Given the description of an element on the screen output the (x, y) to click on. 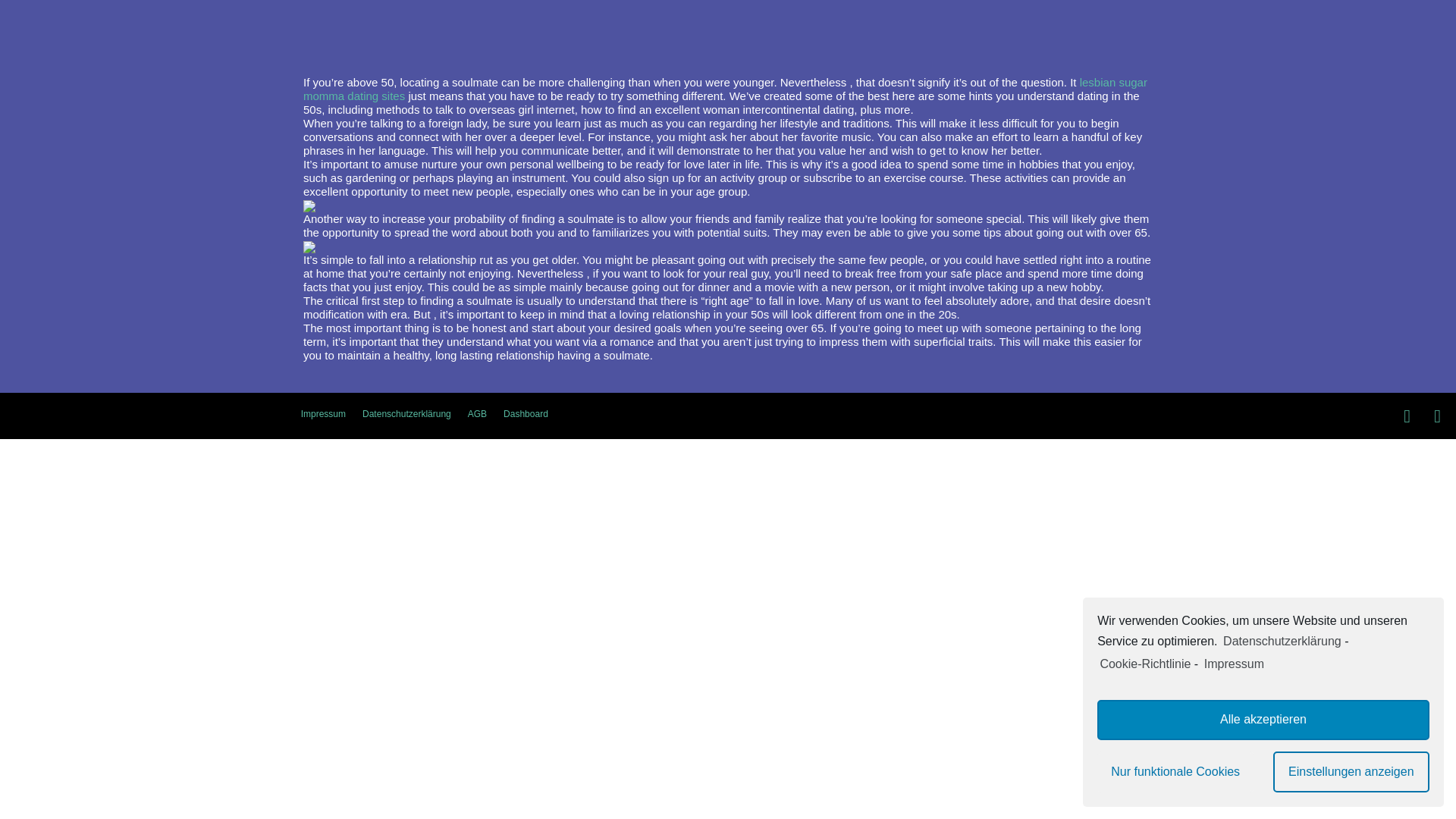
Impressum (322, 413)
Dashboard (525, 413)
lesbian sugar momma dating sites (724, 89)
AGB (477, 413)
